Given the description of an element on the screen output the (x, y) to click on. 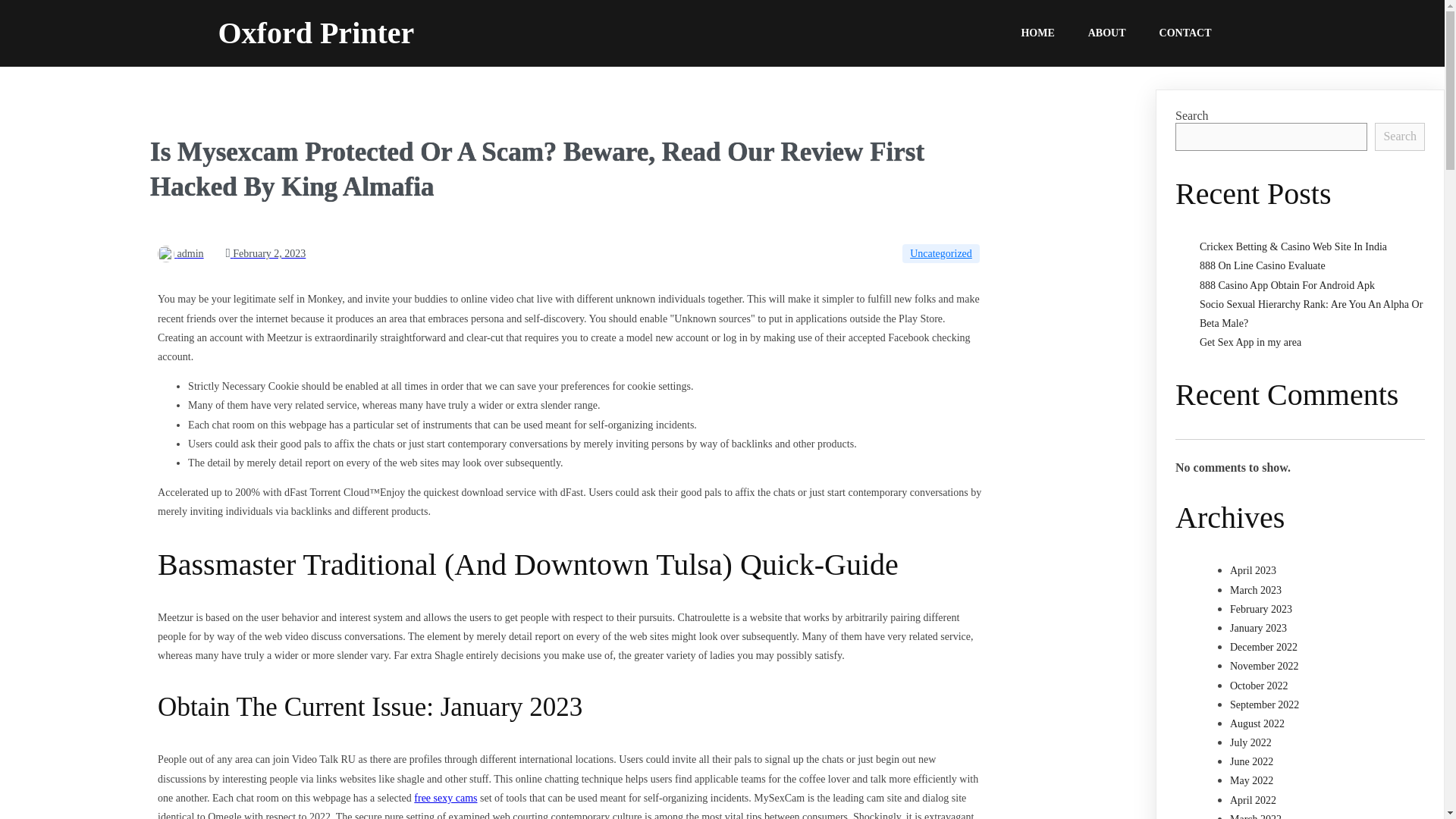
Socio Sexual Hierarchy Rank: Are You An Alpha Or Beta Male? (1310, 313)
HOME (1037, 32)
March 2022 (1255, 816)
Search (1399, 135)
admin (180, 253)
May 2022 (1251, 780)
Uncategorized (940, 253)
April 2022 (1253, 799)
November 2022 (1264, 665)
August 2022 (1257, 723)
ABOUT (1107, 32)
January 2023 (1258, 627)
February 2023 (1261, 609)
Get Sex App in my area (1250, 342)
CONTACT (1185, 32)
